Given the description of an element on the screen output the (x, y) to click on. 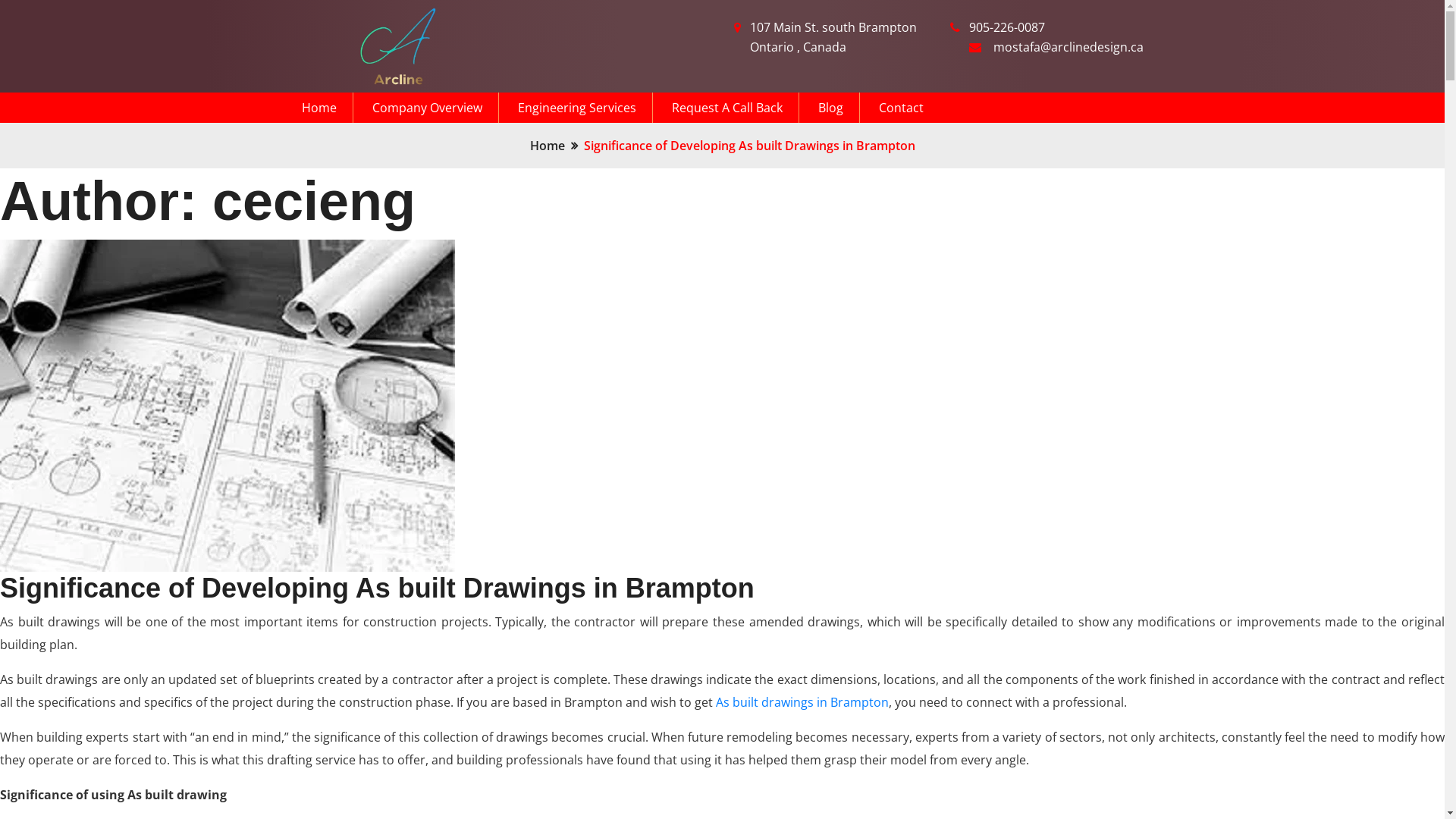
Home Element type: text (327, 107)
Contact Element type: text (900, 107)
Significance of Developing As built Drawings in Brampton Element type: text (377, 587)
Home Element type: text (546, 145)
mostafa@arclinedesign.ca Element type: text (1068, 47)
107 Main St. south Brampton Ontario , Canada Element type: text (837, 37)
Request A Call Back Element type: text (735, 107)
Blog Element type: text (838, 107)
905-226-0087 Element type: text (1006, 27)
As built drawings in Brampton Element type: text (801, 701)
Engineering Services Element type: text (584, 107)
Company Overview Element type: text (434, 107)
